Given the description of an element on the screen output the (x, y) to click on. 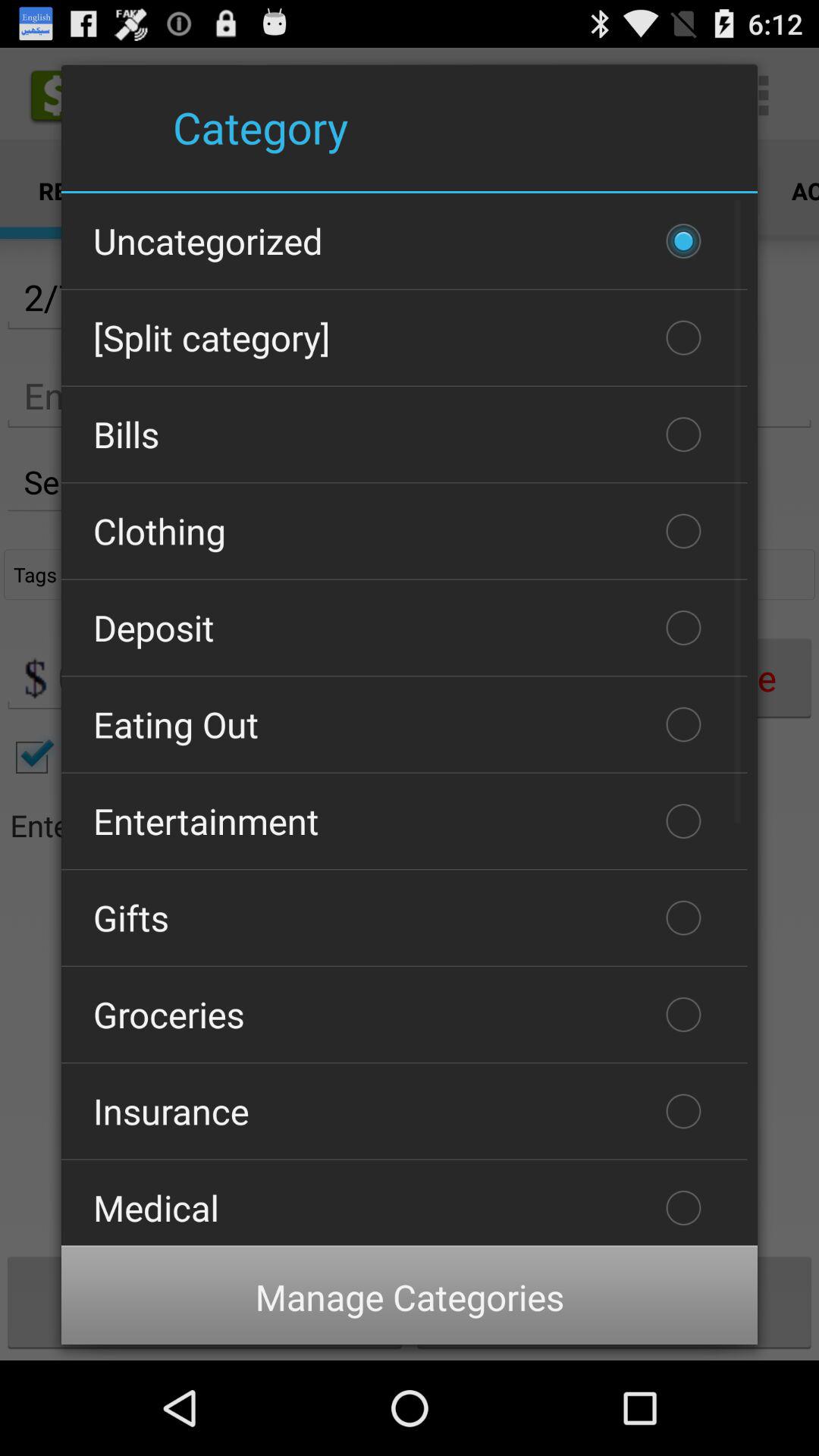
open the icon above eating out checkbox (404, 627)
